Given the description of an element on the screen output the (x, y) to click on. 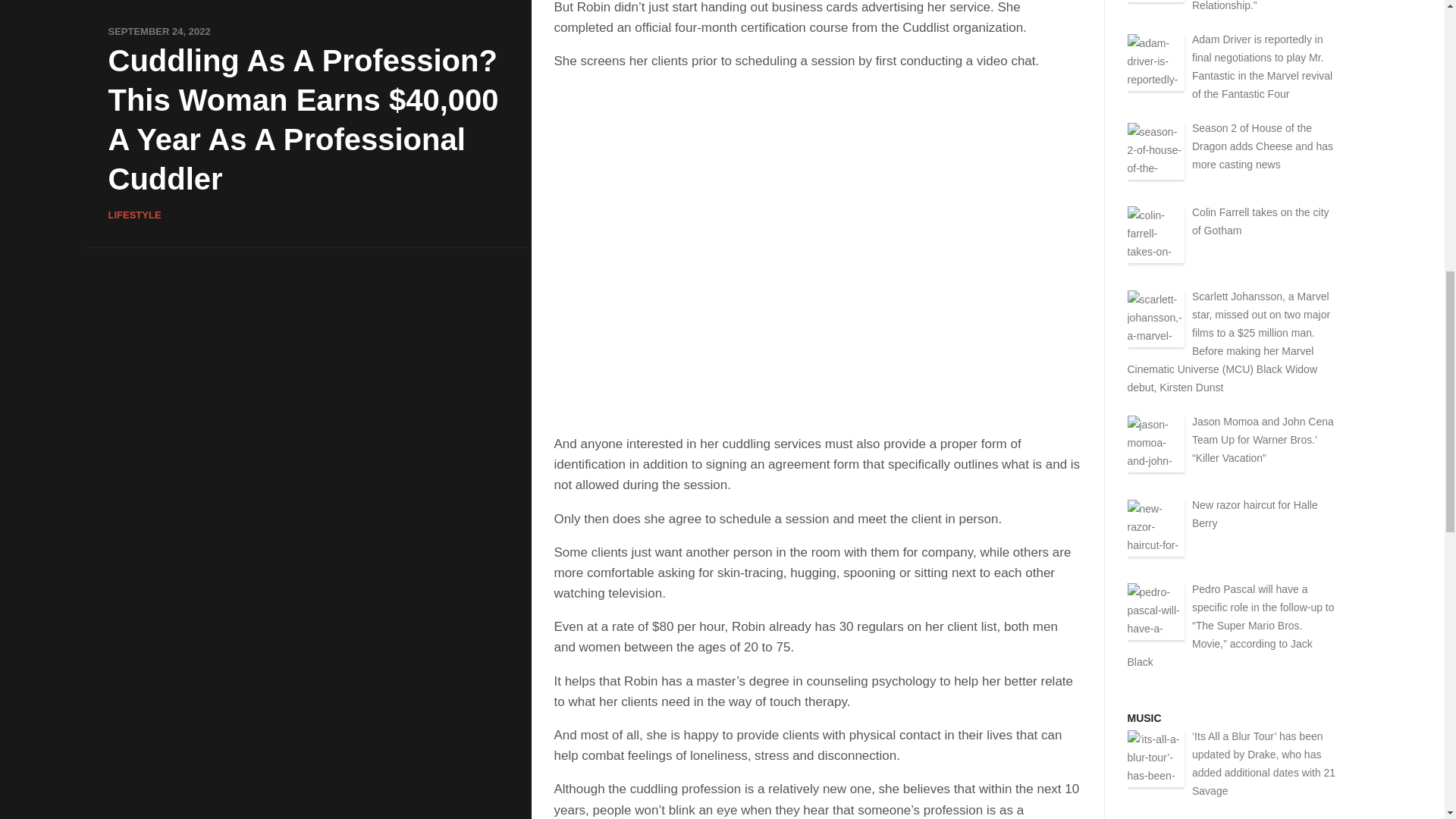
Colin Farrell takes on the city of Gotham (1260, 221)
New razor haircut for Halle Berry (1254, 513)
